Given the description of an element on the screen output the (x, y) to click on. 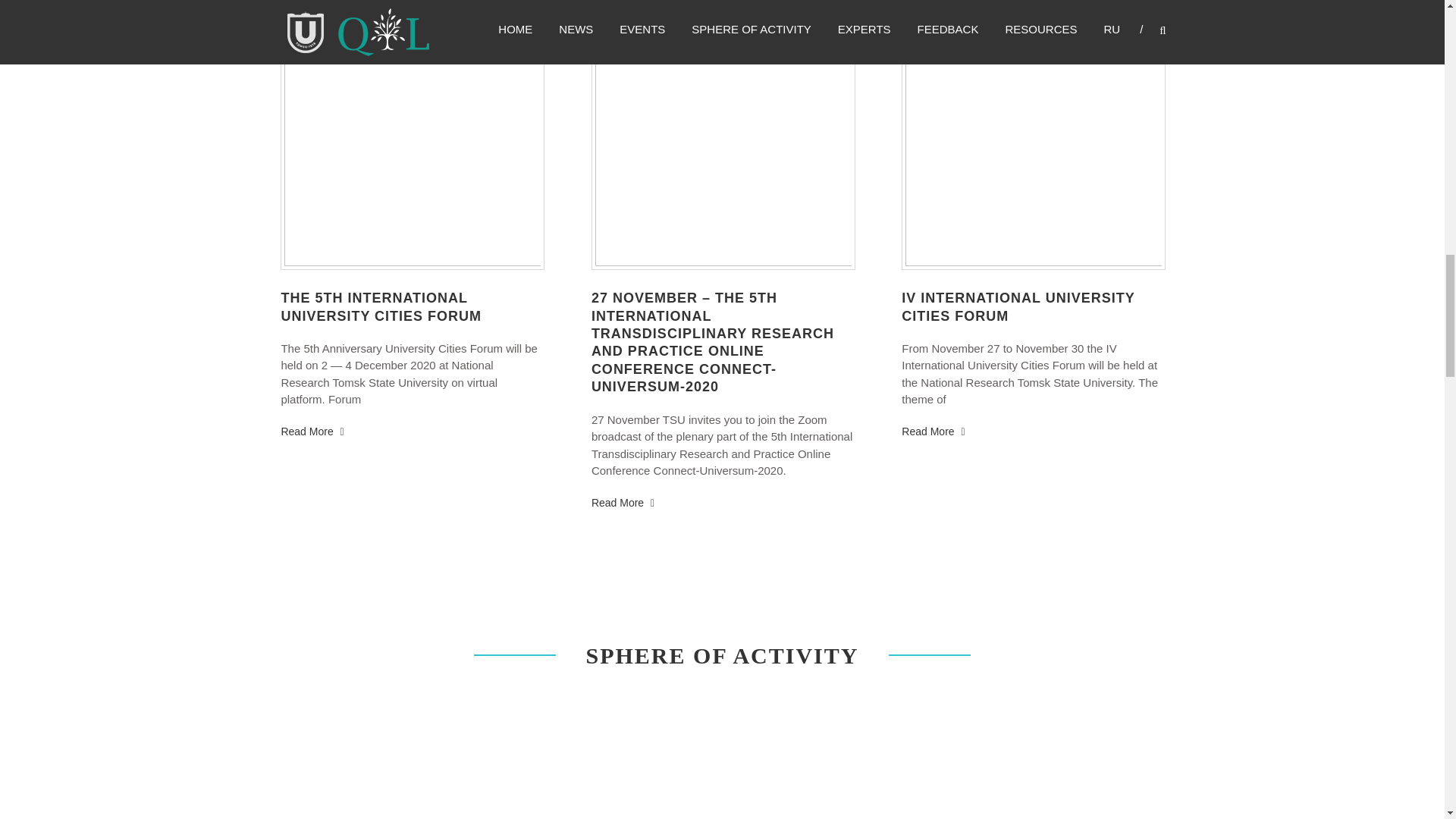
IV INTERNATIONAL UNIVERSITY CITIES FORUM (1017, 306)
THE 5TH INTERNATIONAL UNIVERSITY CITIES FORUM (381, 306)
Read More (312, 431)
Read More (622, 501)
Read More (932, 431)
